Given the description of an element on the screen output the (x, y) to click on. 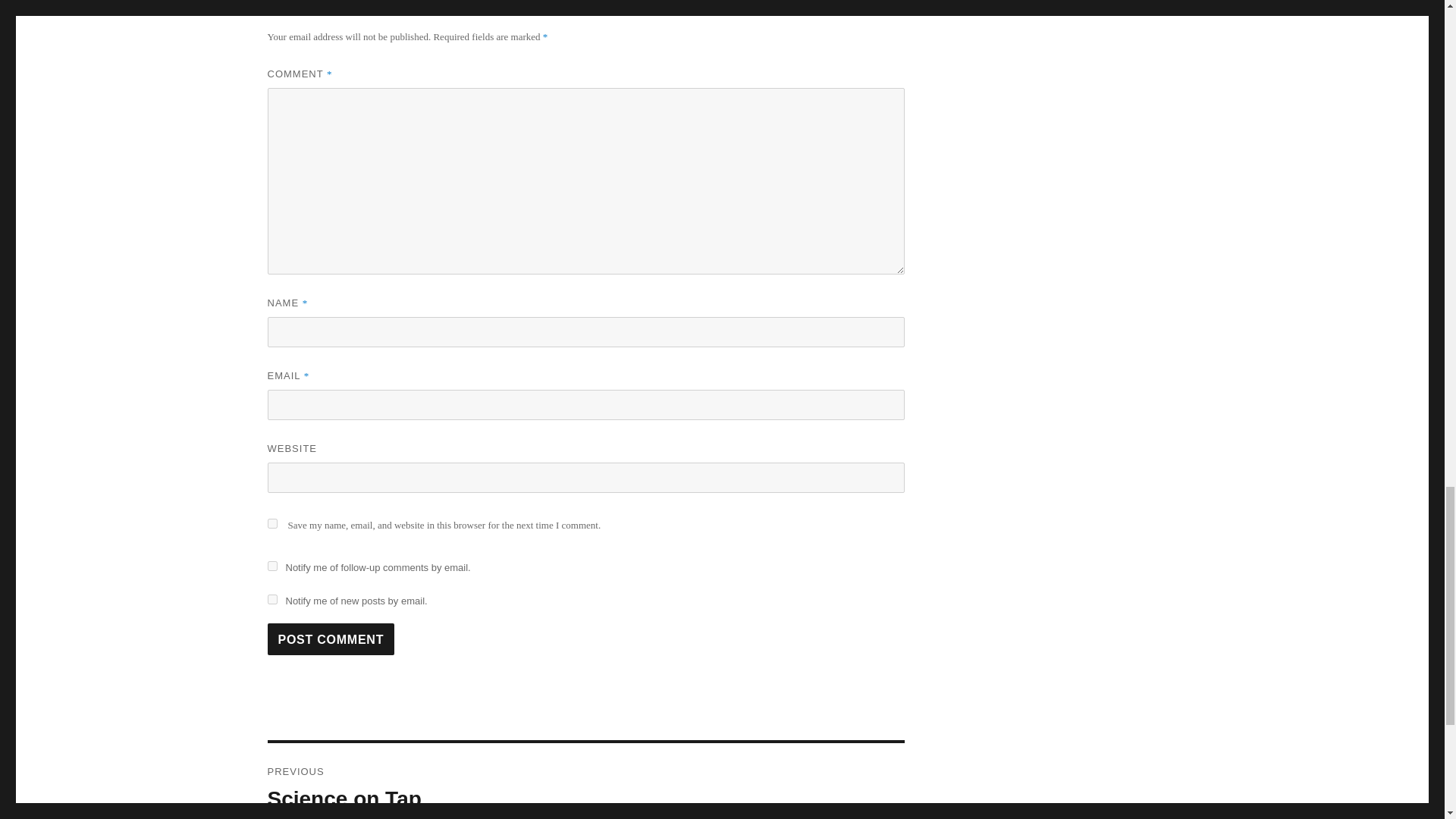
subscribe (271, 565)
Post Comment (330, 639)
subscribe (271, 599)
yes (271, 523)
